Given the description of an element on the screen output the (x, y) to click on. 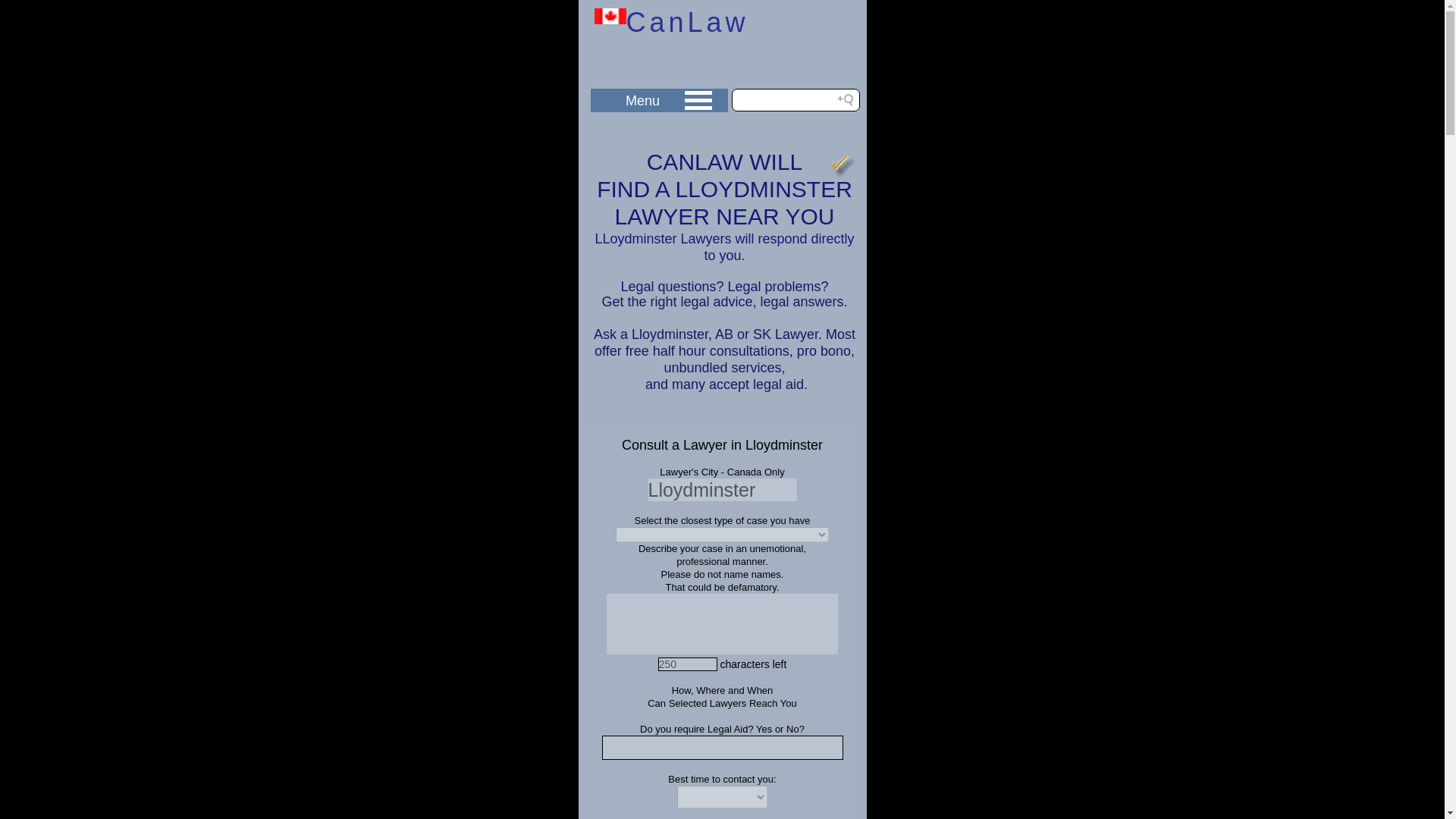
Lloydminster (721, 489)
250 (687, 663)
FREE Find Canadian lawyers and paralegals near me. (610, 16)
